Given the description of an element on the screen output the (x, y) to click on. 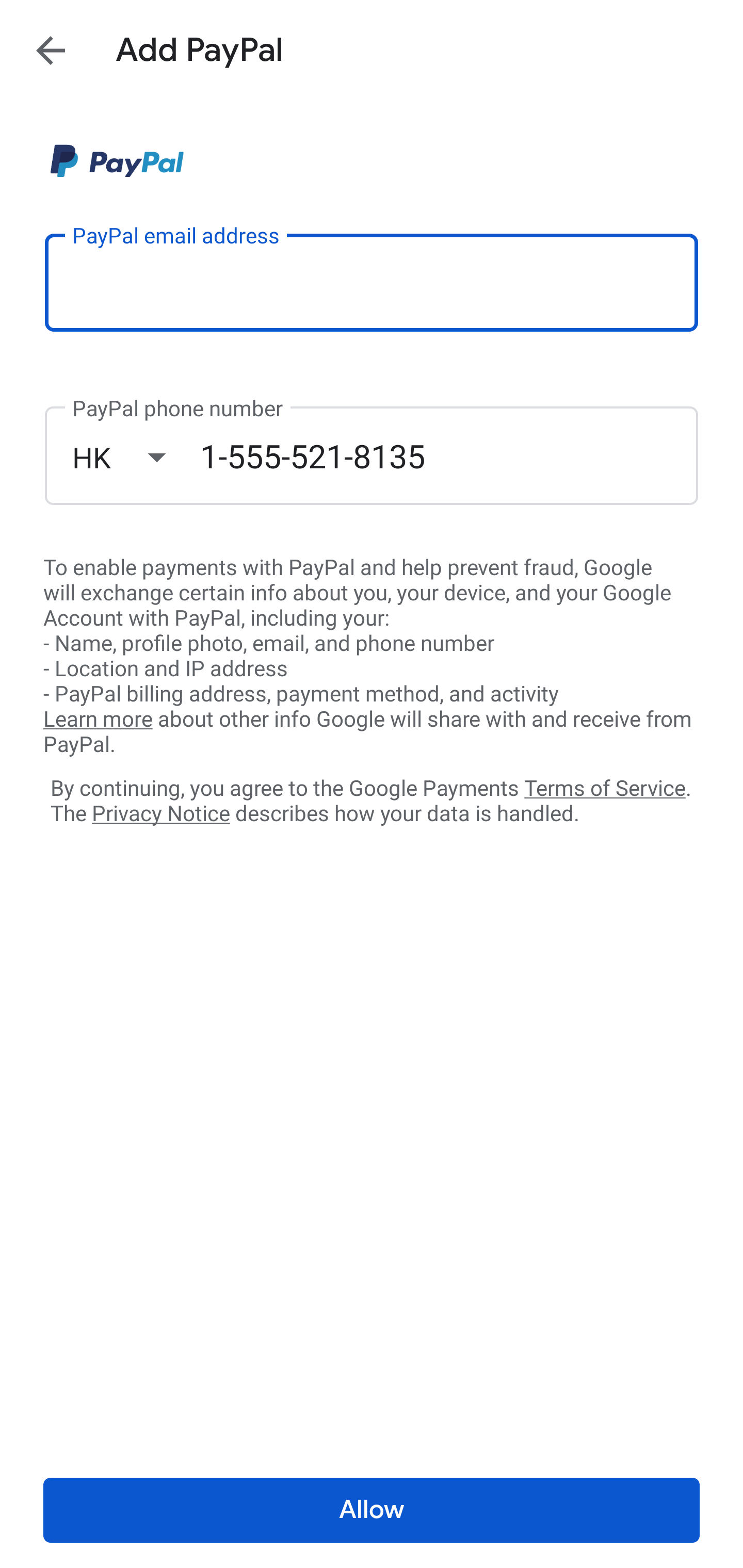
Navigate up (50, 50)
PayPal email address (371, 282)
HK (135, 456)
Learn more (97, 719)
Terms of Service (604, 787)
Privacy Notice (160, 814)
Allow (371, 1510)
